Given the description of an element on the screen output the (x, y) to click on. 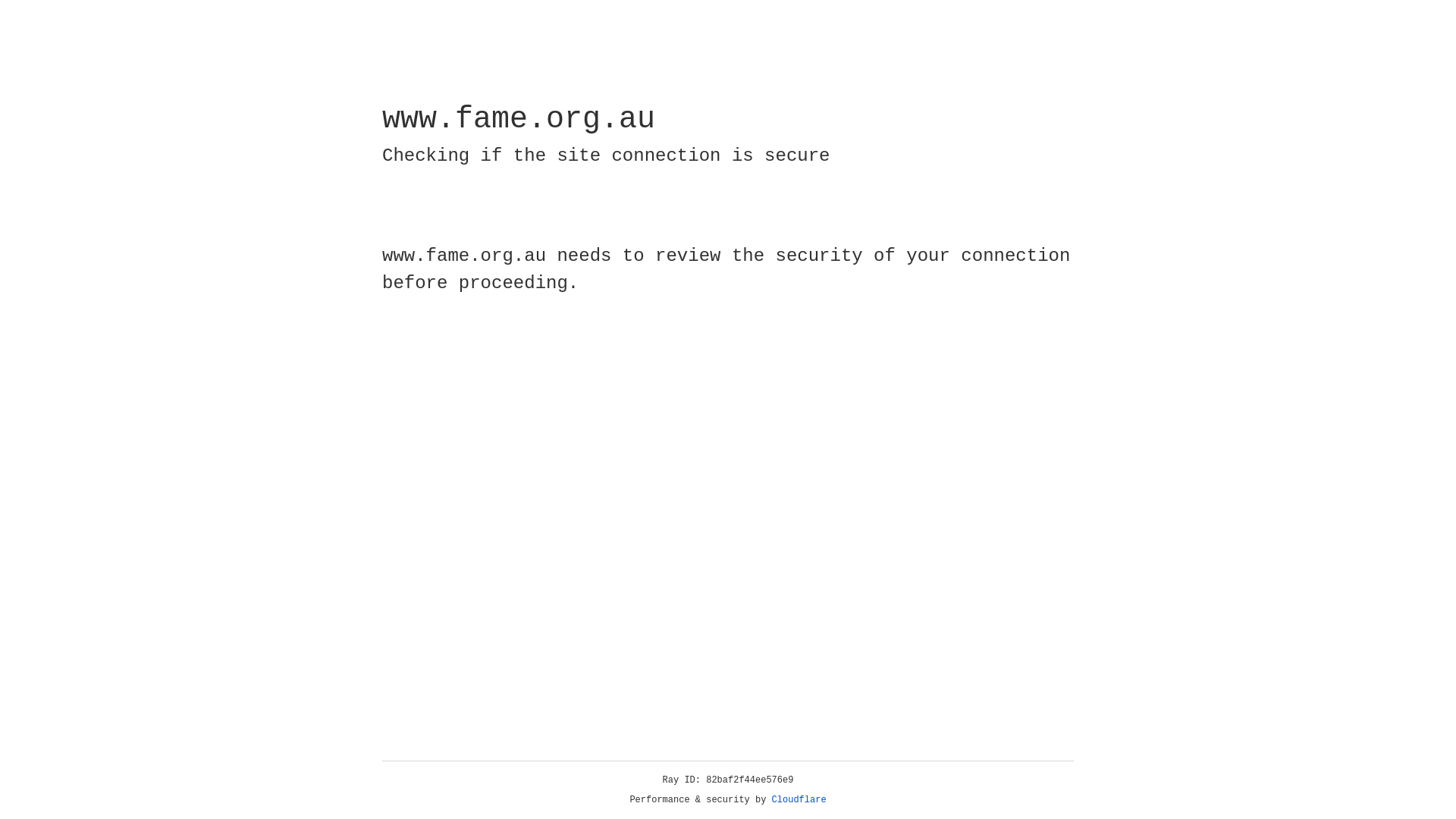
Cloudflare Element type: text (798, 799)
